Given the description of an element on the screen output the (x, y) to click on. 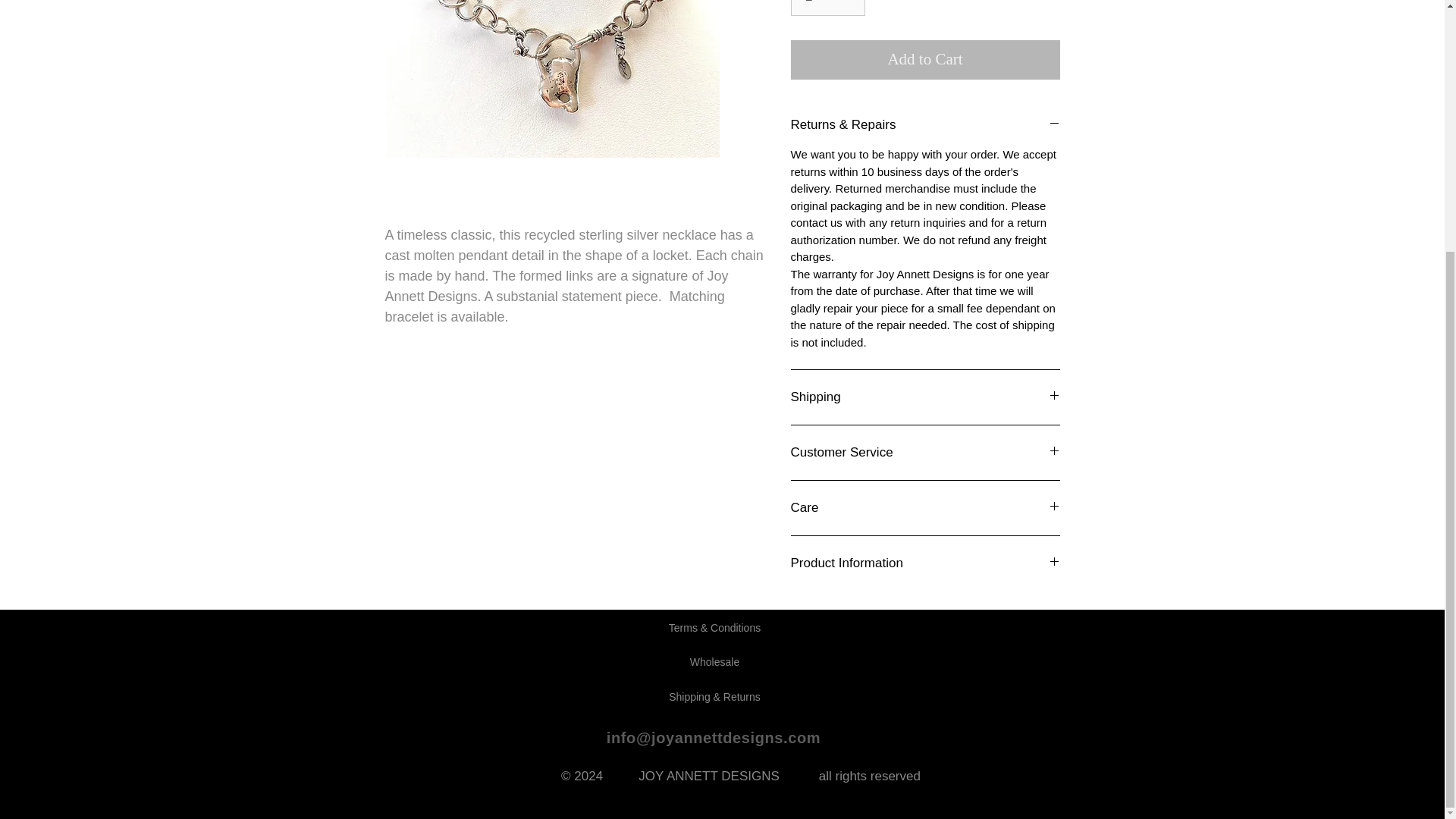
Product Information (924, 563)
Customer Service (924, 452)
1 (827, 7)
Care (924, 507)
Wholesale (714, 662)
Add to Cart (924, 59)
Shipping (924, 397)
